Given the description of an element on the screen output the (x, y) to click on. 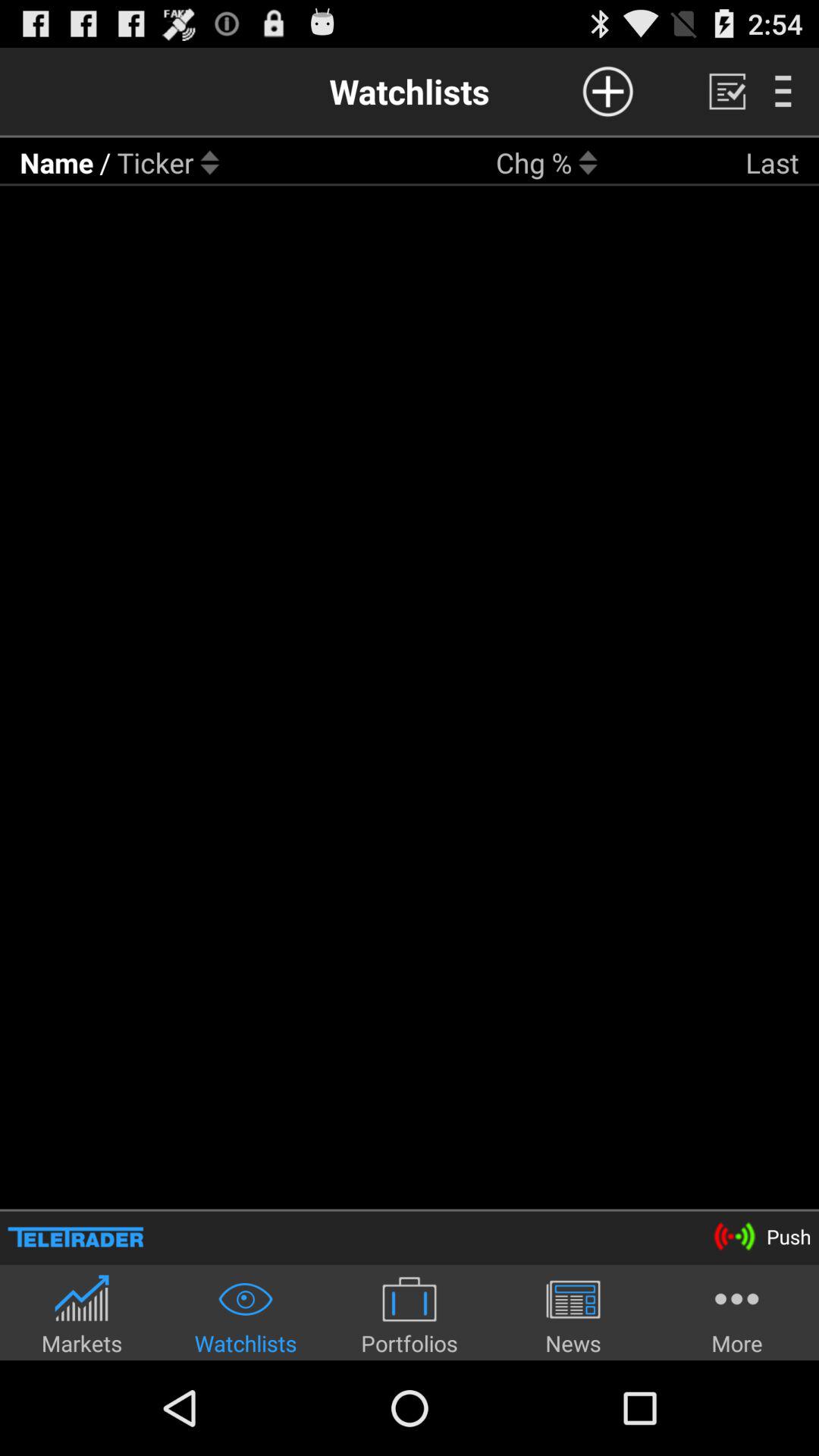
press the app to the left of the news item (409, 1314)
